Given the description of an element on the screen output the (x, y) to click on. 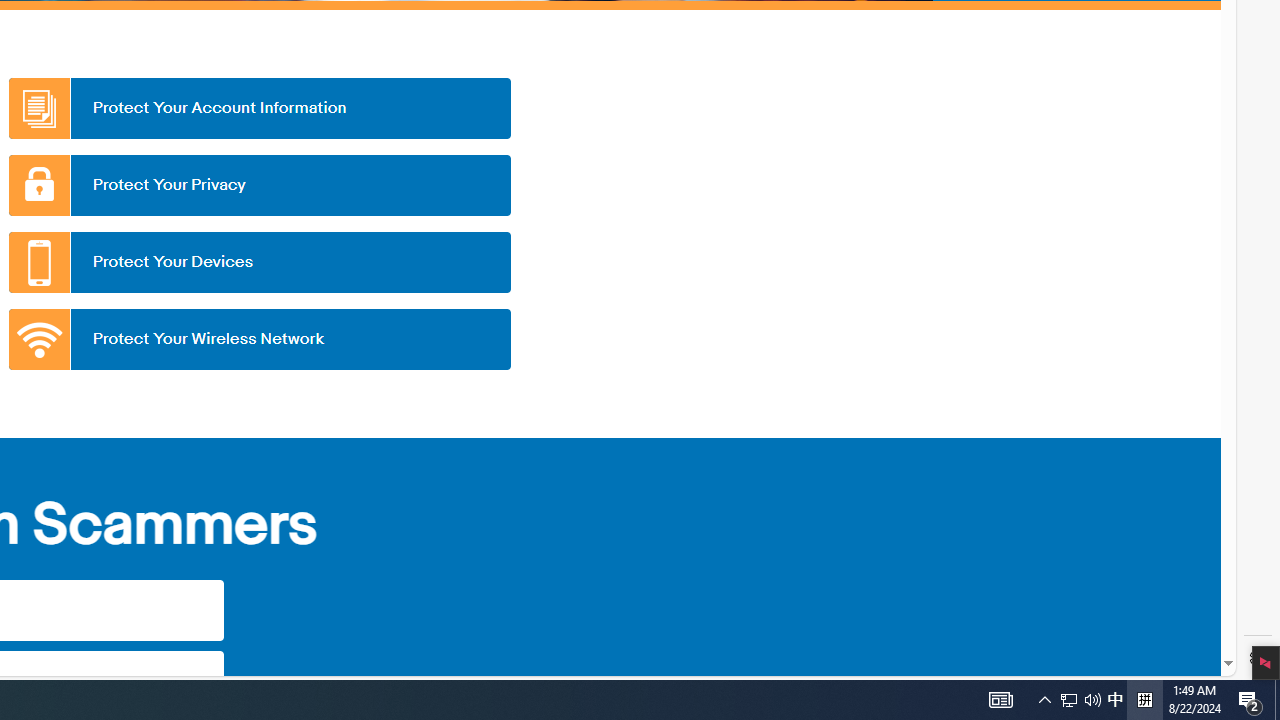
Protect Your Account Information (259, 107)
Protect Your Privacy (259, 185)
Protect Your Devices (259, 262)
Protect Your Wireless Network (259, 339)
